Given the description of an element on the screen output the (x, y) to click on. 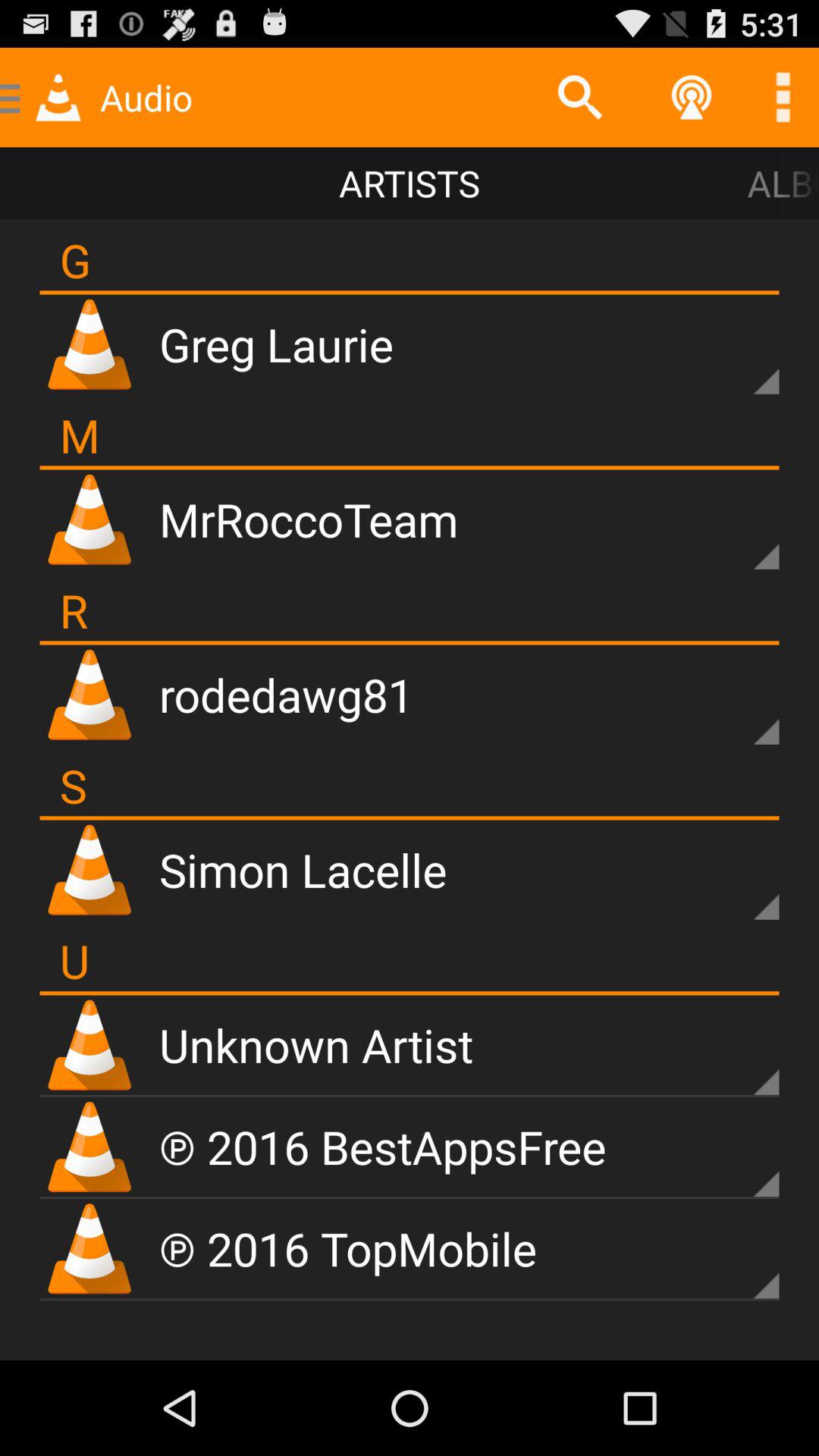
opean songlist for that artist (740, 355)
